Given the description of an element on the screen output the (x, y) to click on. 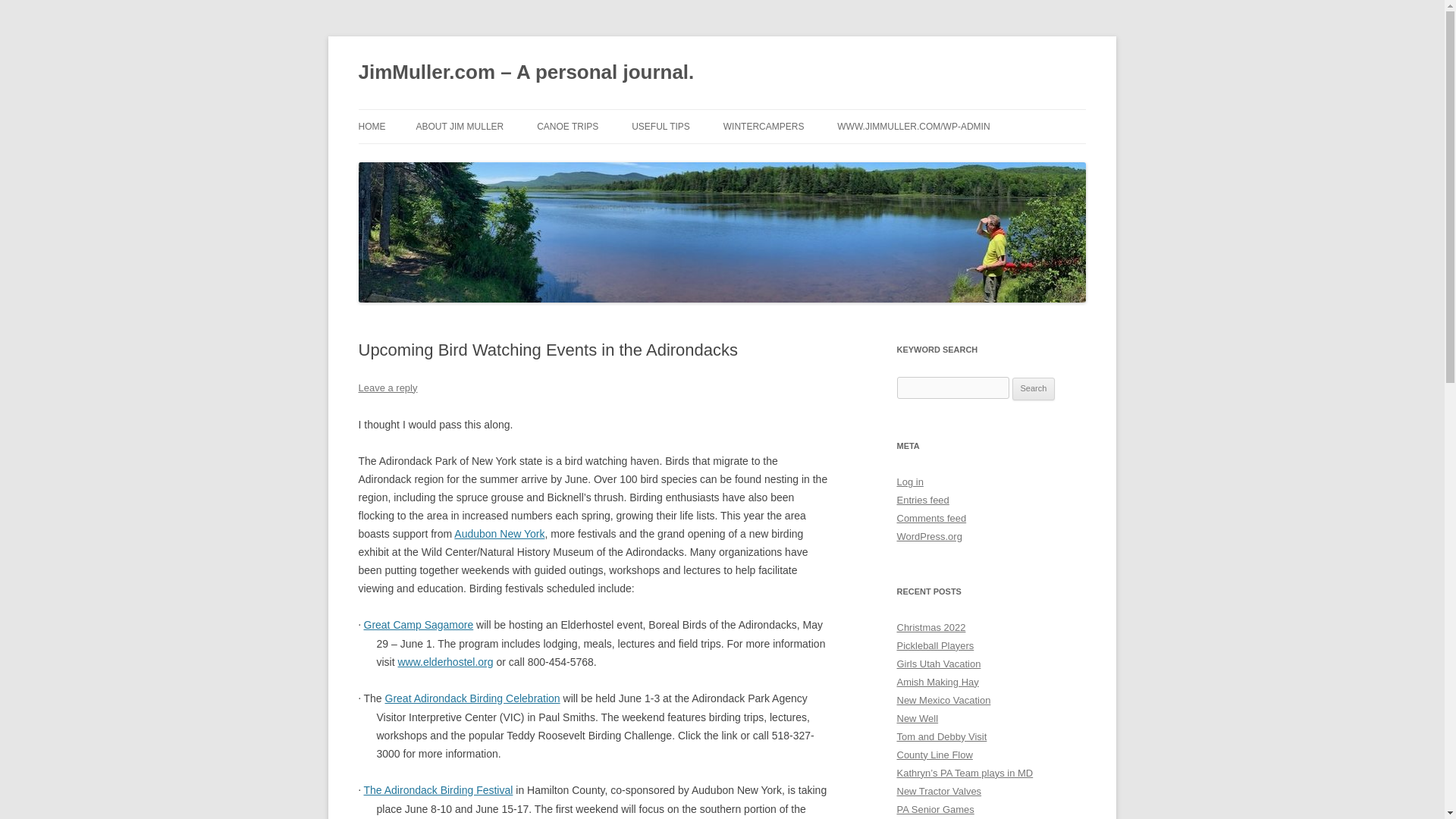
Search (1033, 388)
RACQUETTE RIVER: AXTON LANDING (612, 167)
ABOUT JIM MULLER (458, 126)
CANOE TRIPS (567, 126)
